Given the description of an element on the screen output the (x, y) to click on. 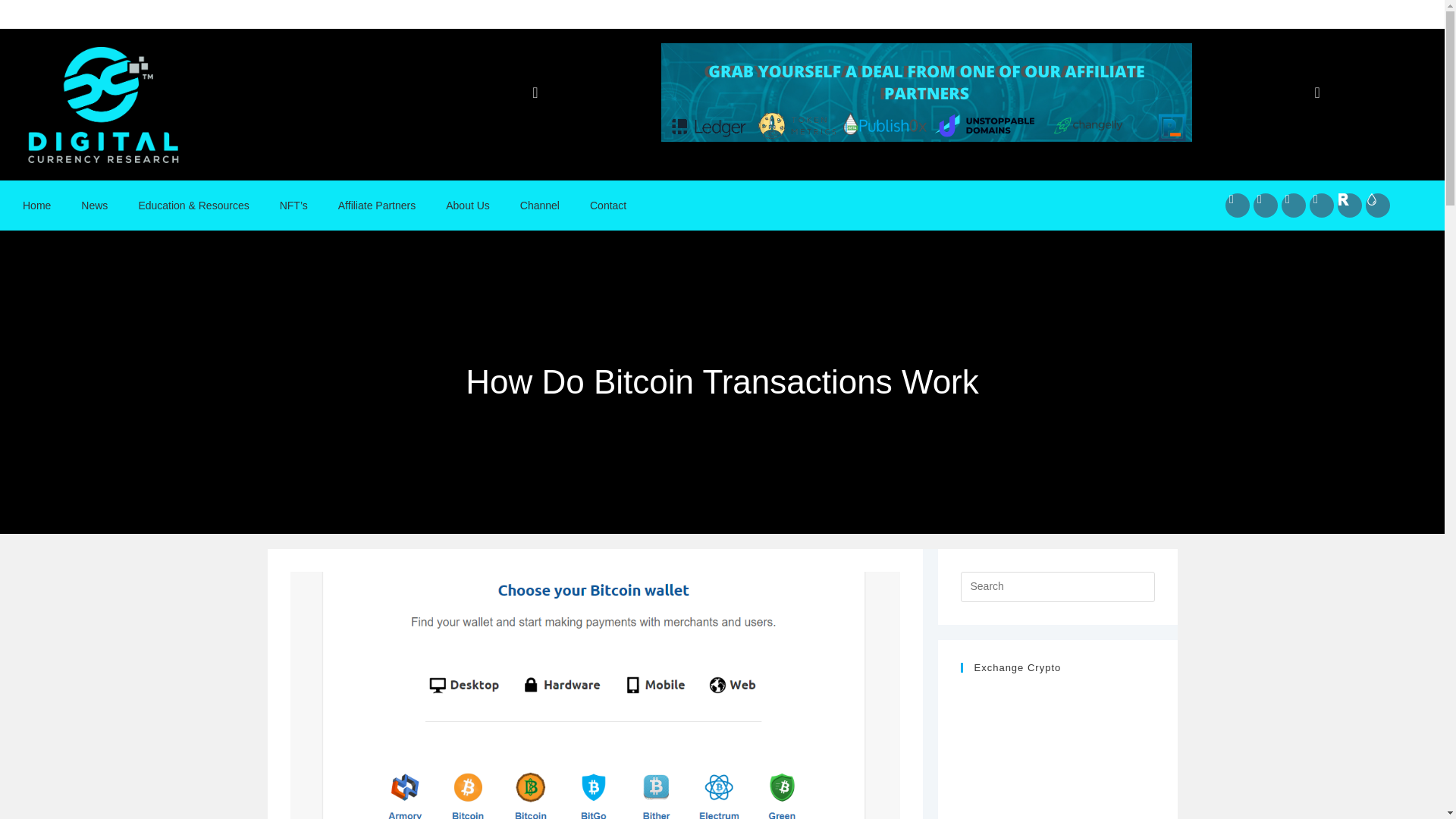
Contact (608, 205)
Home (36, 205)
Affiliate Partners (376, 205)
Channel (540, 205)
News (93, 205)
About Us (467, 205)
